Given the description of an element on the screen output the (x, y) to click on. 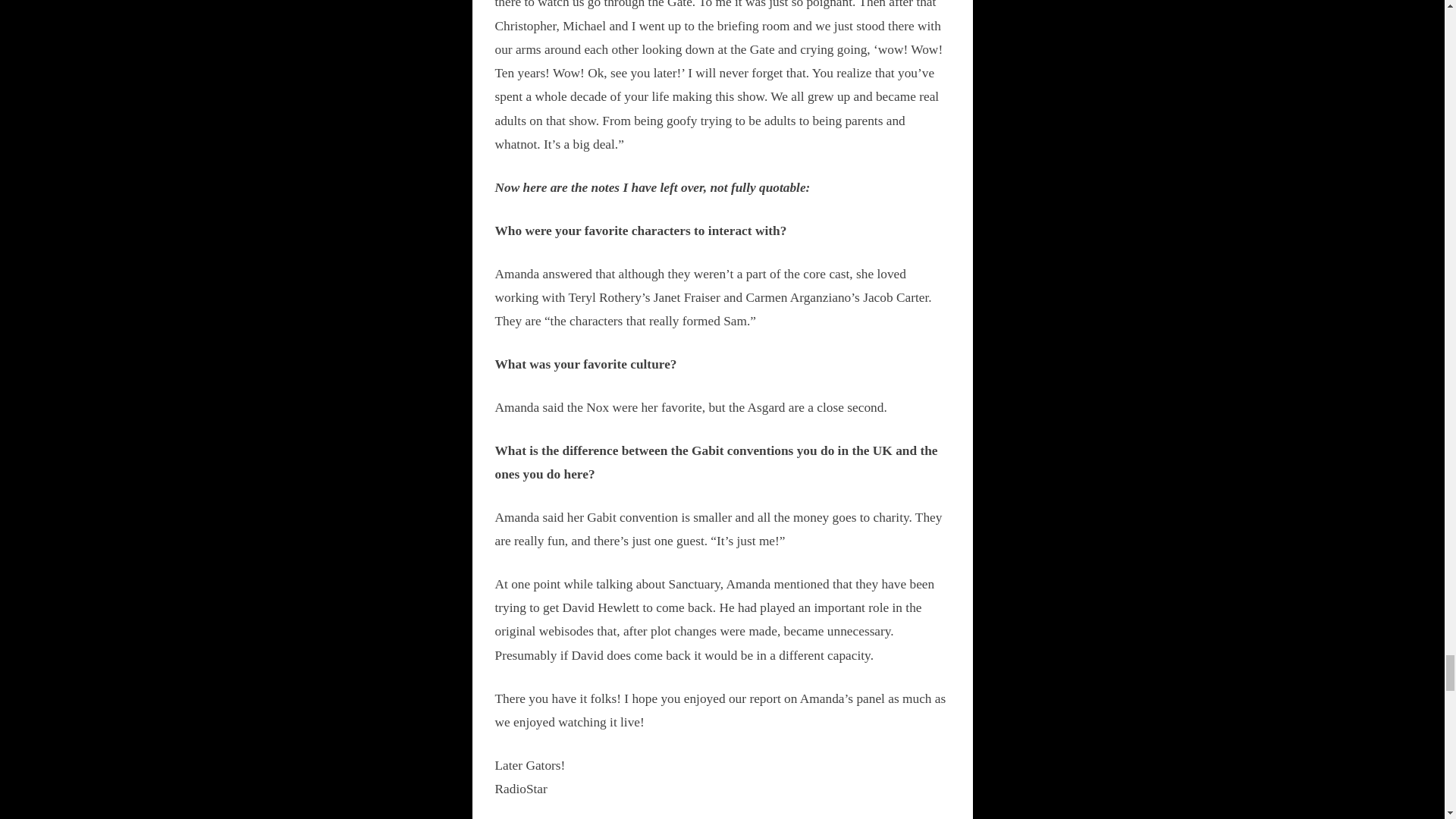
Sanctuary (717, 818)
Stargate (769, 818)
